Given the description of an element on the screen output the (x, y) to click on. 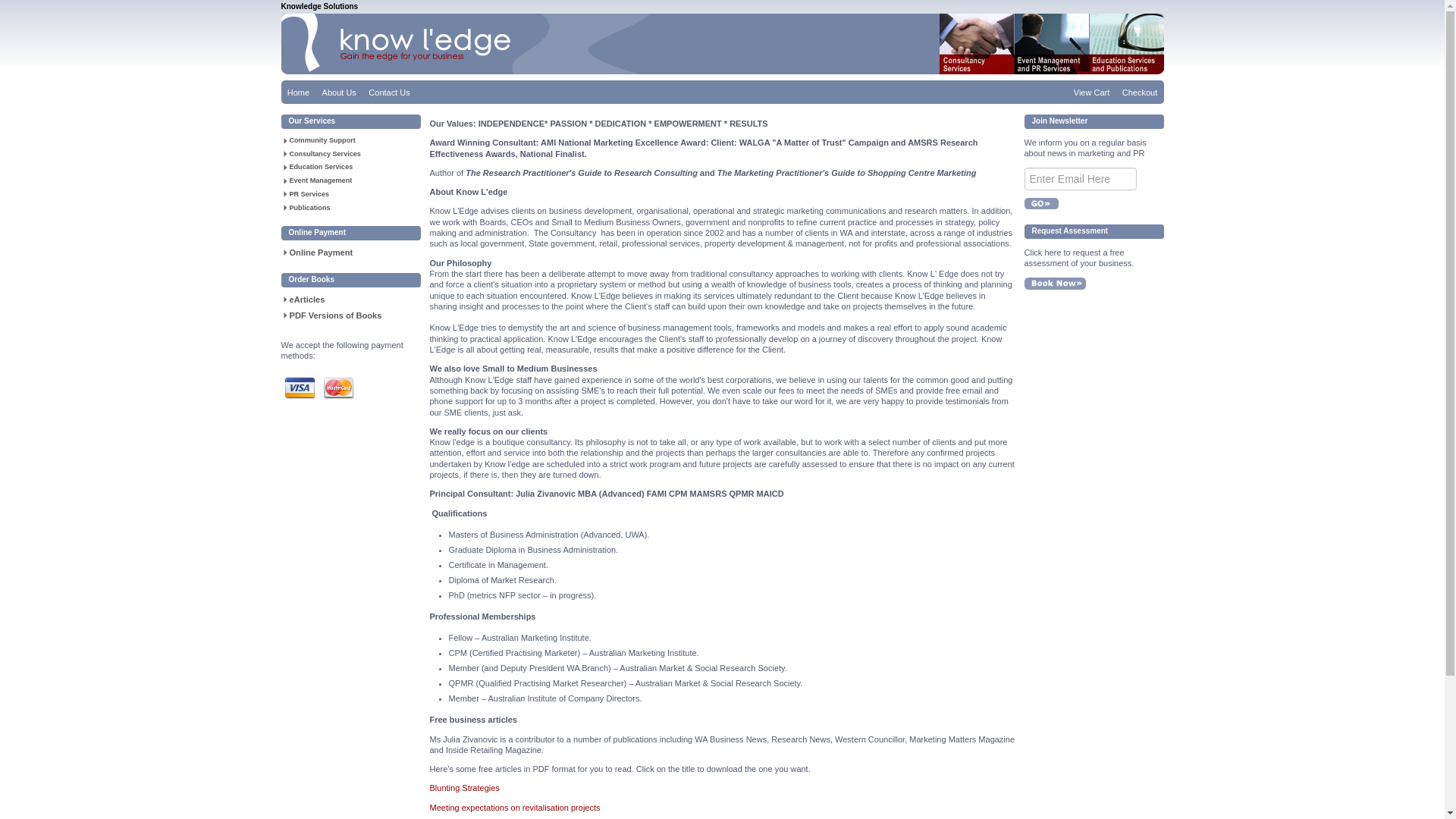
Knowledge Solutions Element type: hover (475, 43)
PDF Versions of Books Element type: text (351, 315)
Blunting Strategies Element type: text (463, 787)
Publications Element type: text (351, 207)
Meeting expectations on revitalisation projects Element type: text (514, 807)
Consultancy Services Element type: text (351, 153)
Home Element type: text (297, 91)
Event Management Element type: text (351, 180)
Knowledge Solutions Element type: text (318, 6)
View Cart Element type: text (1091, 91)
Online Payment Element type: text (351, 252)
Join our newsletter... Element type: hover (1079, 178)
Master Element type: hover (338, 388)
eArticles Element type: text (351, 299)
Education Services Element type: text (351, 166)
Visa Element type: hover (298, 388)
PR Services Element type: text (351, 194)
Checkout Element type: text (1140, 91)
Join Element type: hover (1040, 203)
About Us Element type: text (338, 91)
Contact Us Element type: text (389, 91)
Knowledge Solutions Element type: hover (1050, 43)
Community Support Element type: text (351, 140)
